Given the description of an element on the screen output the (x, y) to click on. 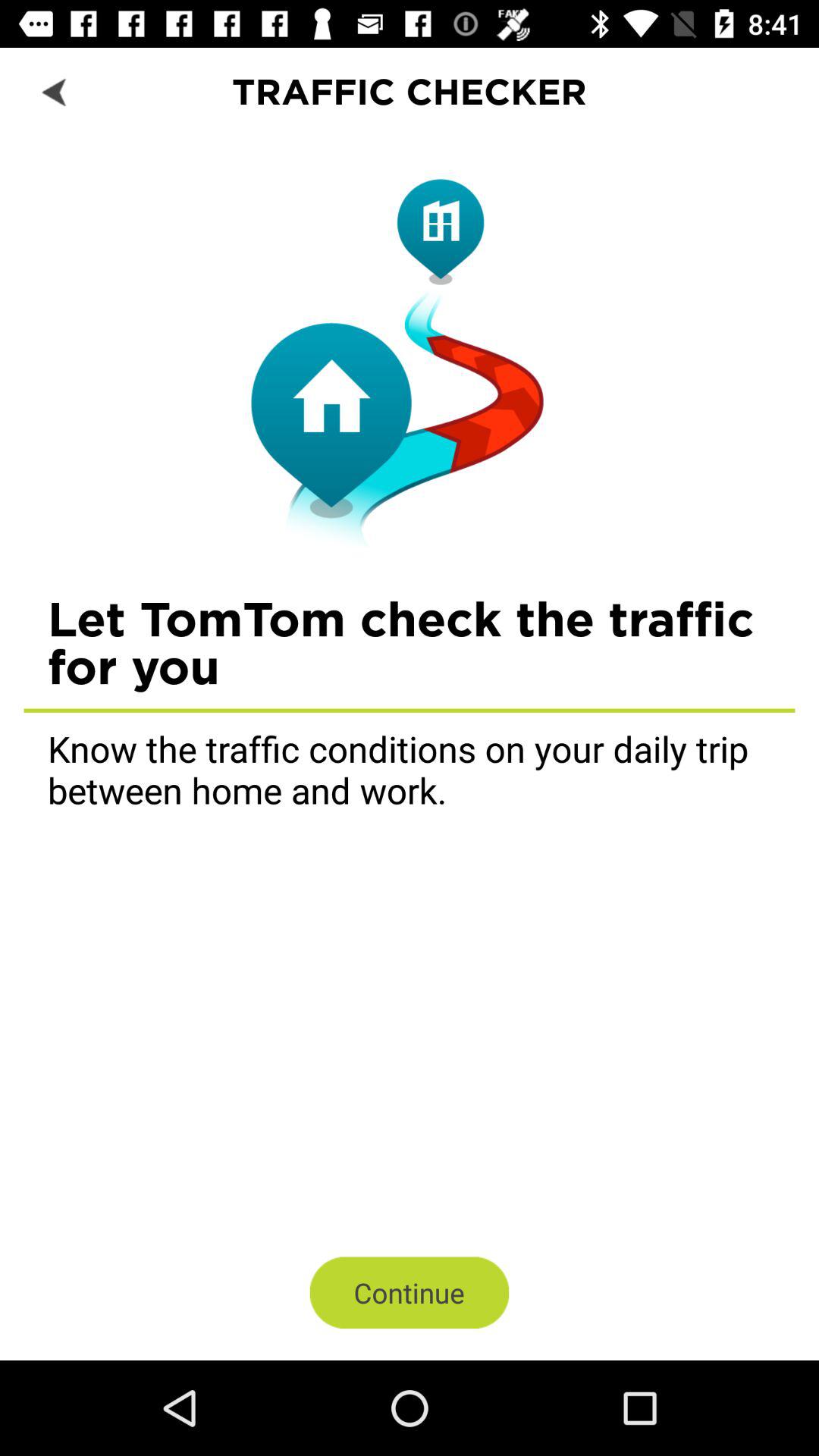
turn on item at the top left corner (55, 91)
